Given the description of an element on the screen output the (x, y) to click on. 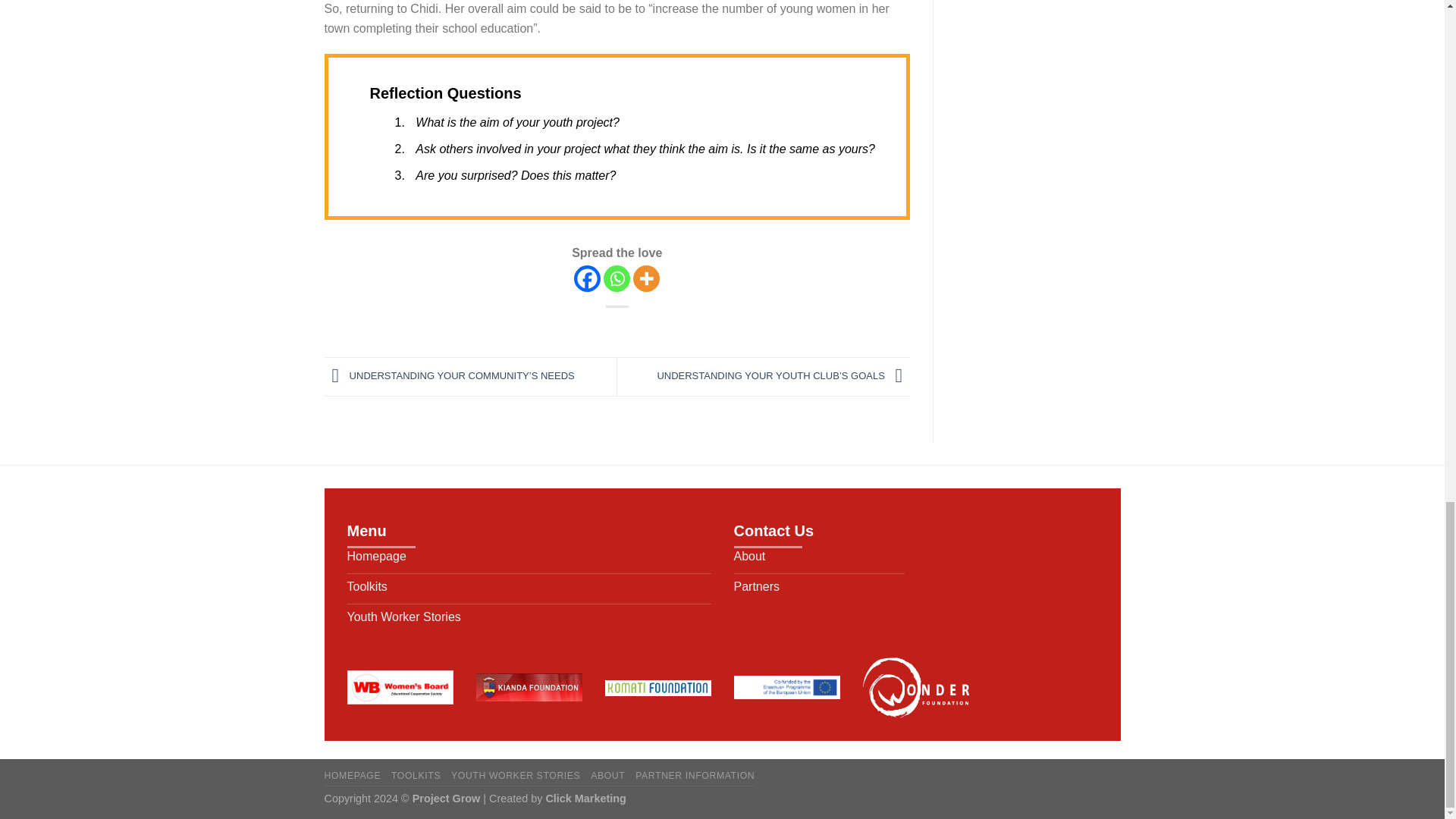
Youth Worker Stories (529, 619)
Whatsapp (617, 278)
TOOLKITS (416, 775)
Facebook (586, 278)
PARTNER INFORMATION (694, 775)
Toolkits (529, 589)
HOMEPAGE (352, 775)
Partners (818, 589)
Click Marketing (585, 798)
Homepage (529, 558)
YOUTH WORKER STORIES (515, 775)
ABOUT (607, 775)
About (818, 558)
More (646, 278)
